Given the description of an element on the screen output the (x, y) to click on. 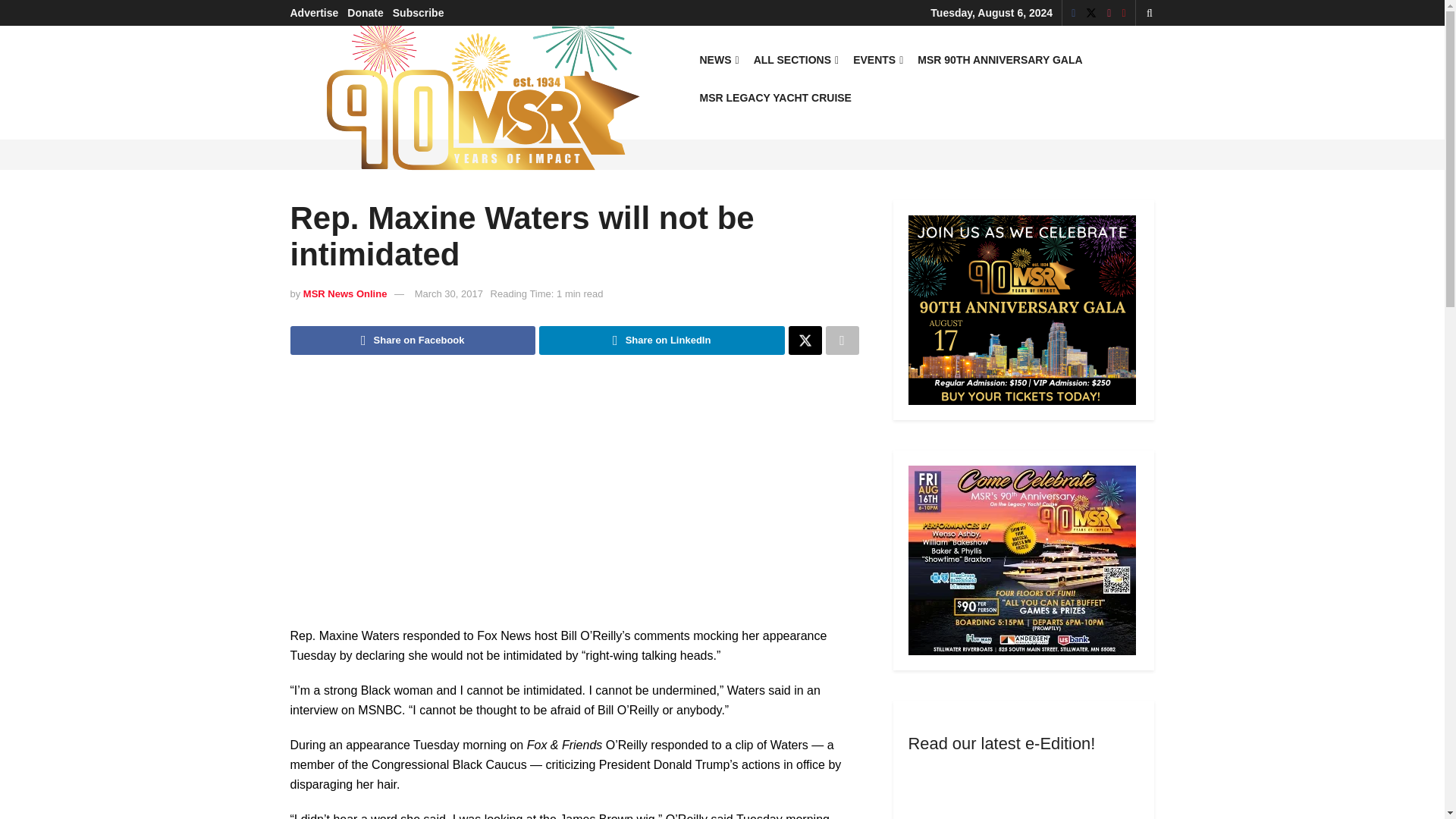
ALL SECTIONS (795, 59)
Advertise (313, 12)
Donate (364, 12)
NEWS (717, 59)
Subscribe (418, 12)
